Given the description of an element on the screen output the (x, y) to click on. 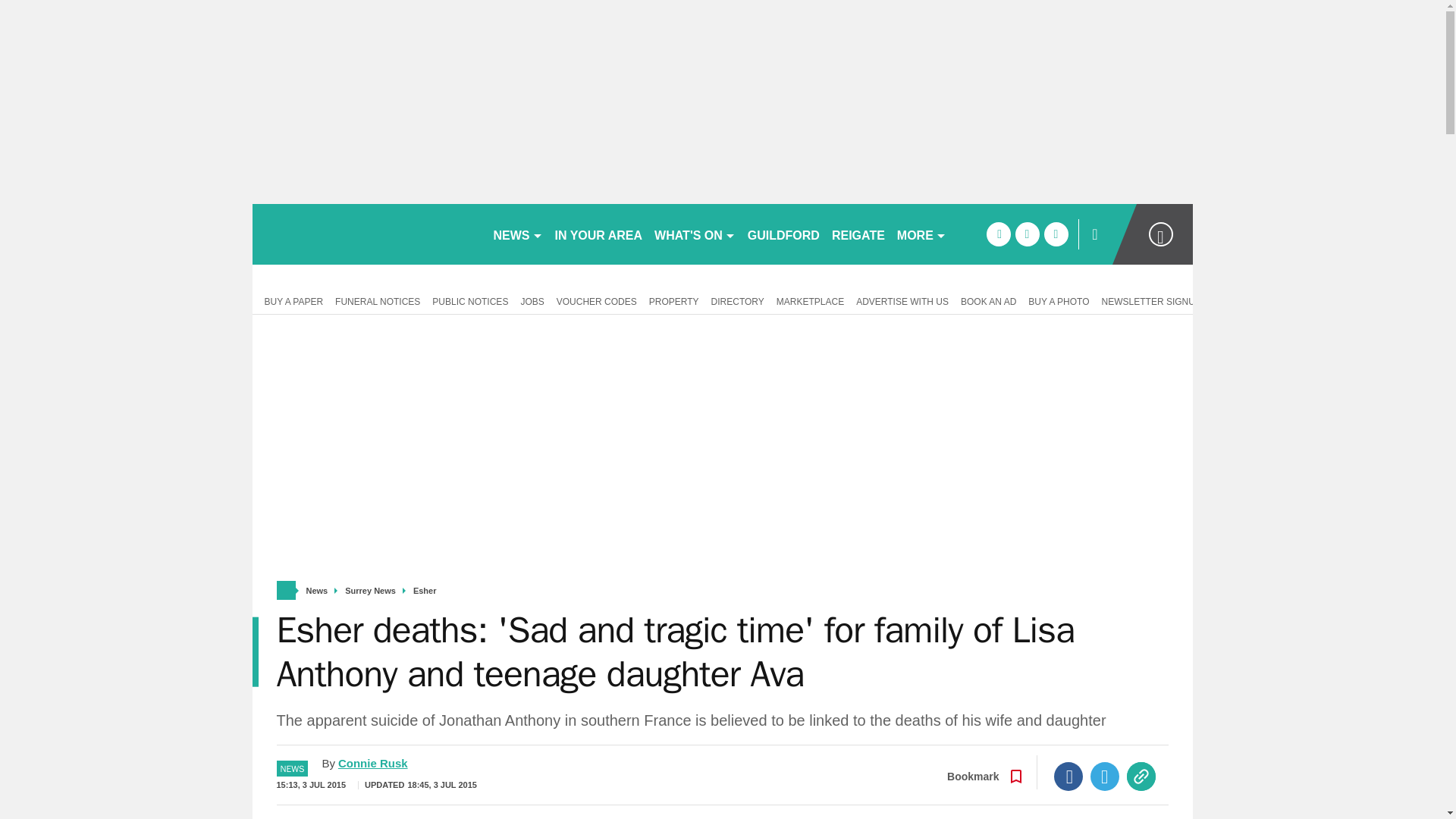
Twitter (1104, 776)
JOBS (531, 300)
REIGATE (858, 233)
WHAT'S ON (694, 233)
FUNERAL NOTICES (377, 300)
PROPERTY (673, 300)
VOUCHER CODES (596, 300)
NEWS (517, 233)
PUBLIC NOTICES (469, 300)
BUY A PAPER (290, 300)
twitter (1026, 233)
instagram (1055, 233)
IN YOUR AREA (598, 233)
getsurrey (365, 233)
facebook (997, 233)
